Given the description of an element on the screen output the (x, y) to click on. 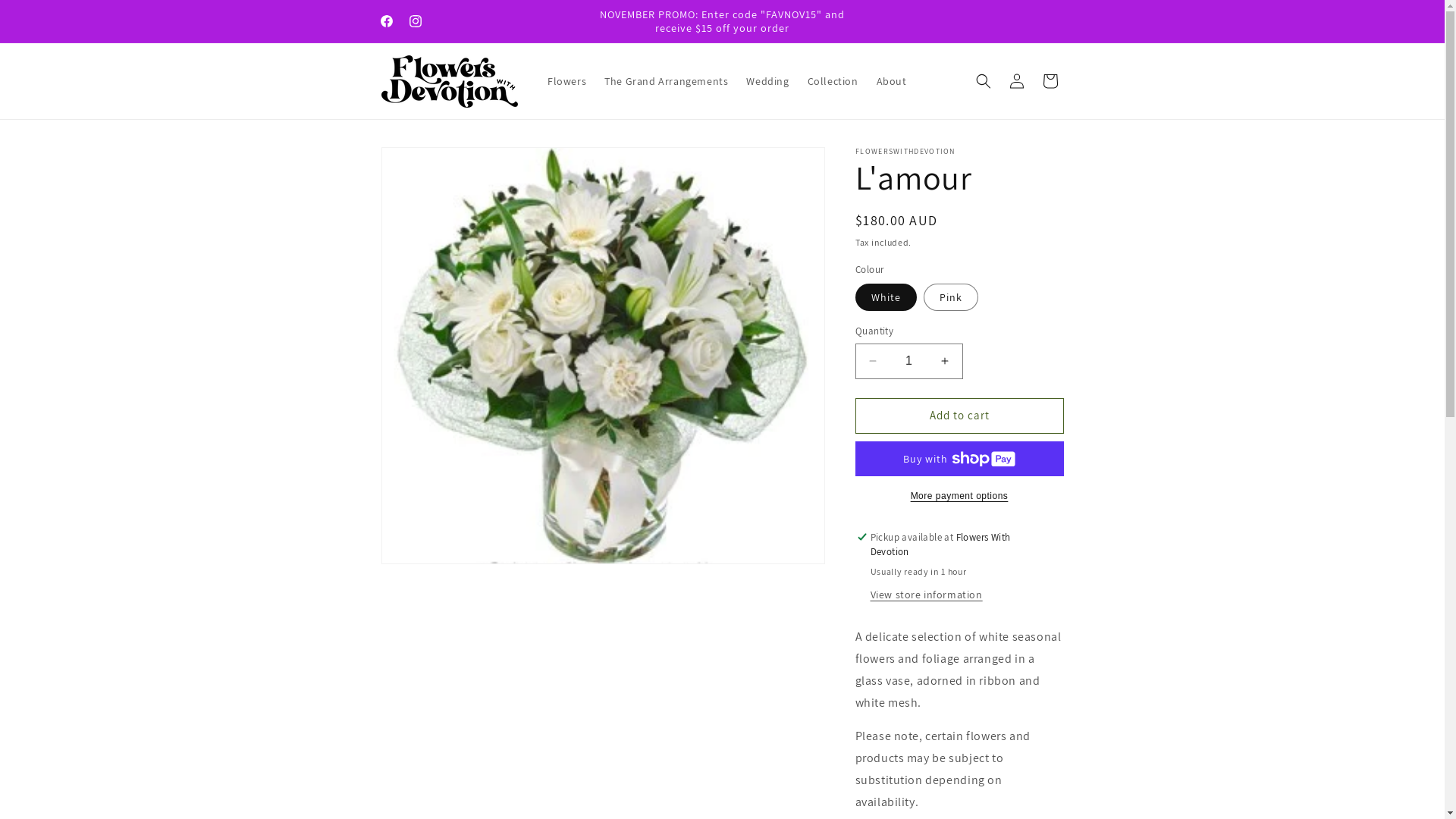
Facebook Element type: text (385, 20)
Log in Element type: text (1015, 80)
Wedding Element type: text (767, 81)
Collection Element type: text (832, 81)
Decrease quantity for L&#39;amour Element type: text (872, 361)
Add to cart Element type: text (959, 415)
Cart Element type: text (1049, 80)
Increase quantity for L&#39;amour Element type: text (945, 361)
View store information Element type: text (926, 594)
The Grand Arrangements Element type: text (666, 81)
More payment options Element type: text (959, 495)
Flowers Element type: text (566, 81)
Instagram Element type: text (414, 20)
About Element type: text (891, 81)
Skip to product information Element type: text (426, 164)
